Given the description of an element on the screen output the (x, y) to click on. 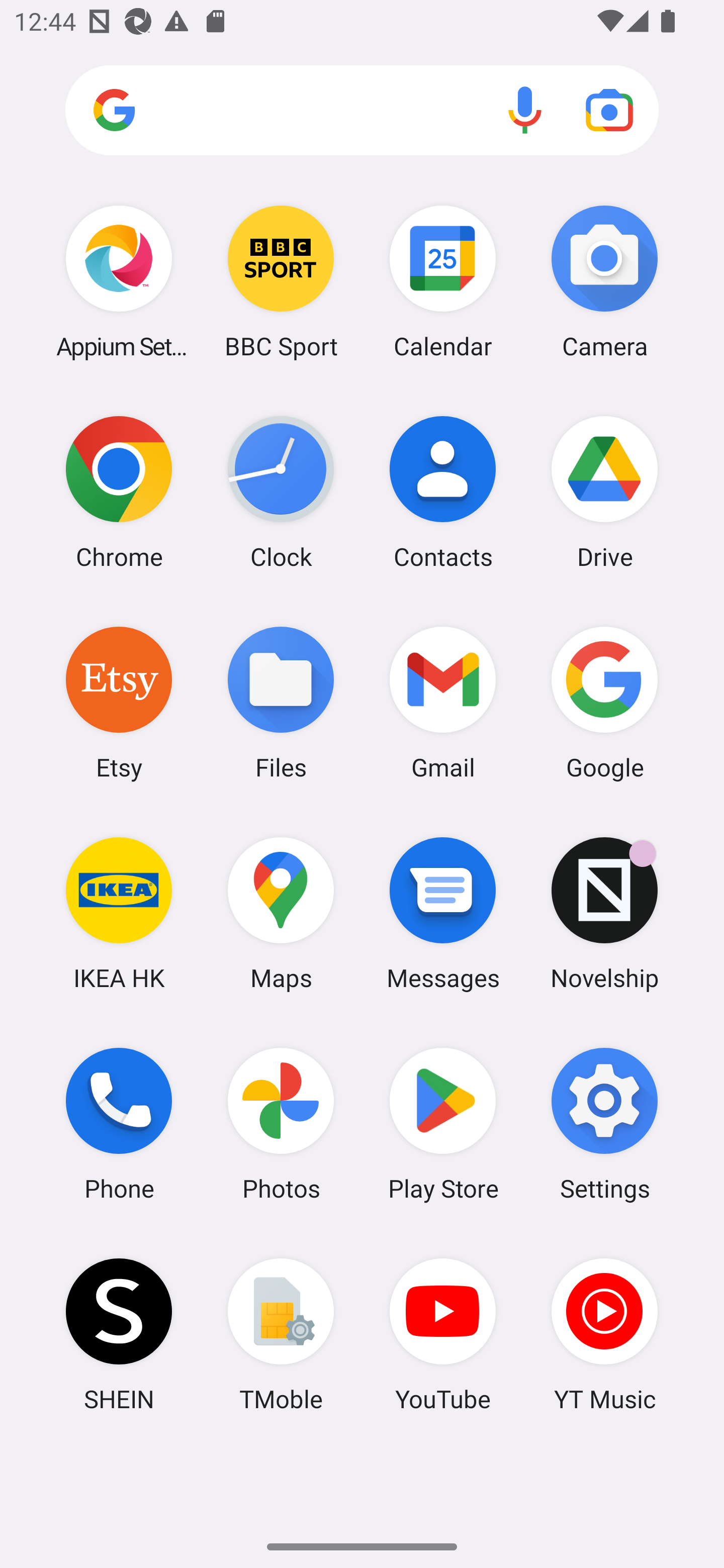
Search apps, web and more (361, 110)
Voice search (524, 109)
Google Lens (608, 109)
Appium Settings (118, 281)
BBC Sport (280, 281)
Calendar (443, 281)
Camera (604, 281)
Chrome (118, 492)
Clock (280, 492)
Contacts (443, 492)
Drive (604, 492)
Etsy (118, 702)
Files (280, 702)
Gmail (443, 702)
Google (604, 702)
IKEA HK (118, 913)
Maps (280, 913)
Messages (443, 913)
Novelship Novelship has 7 notifications (604, 913)
Phone (118, 1124)
Photos (280, 1124)
Play Store (443, 1124)
Settings (604, 1124)
SHEIN (118, 1334)
TMoble (280, 1334)
YouTube (443, 1334)
YT Music (604, 1334)
